Given the description of an element on the screen output the (x, y) to click on. 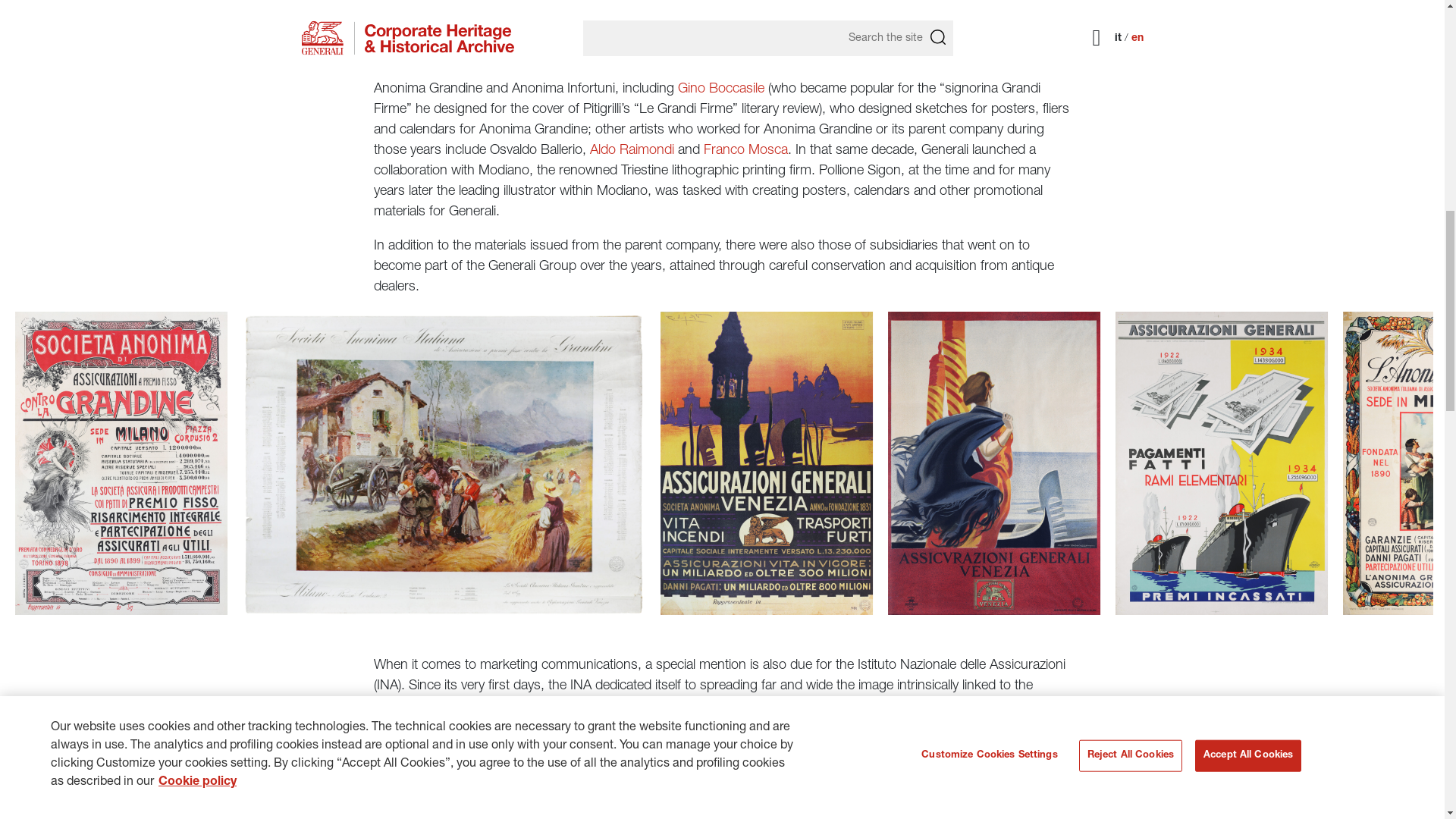
Gino Boccasile (721, 89)
Franco Mosca (745, 151)
Aldo Raimondi (631, 151)
